Given the description of an element on the screen output the (x, y) to click on. 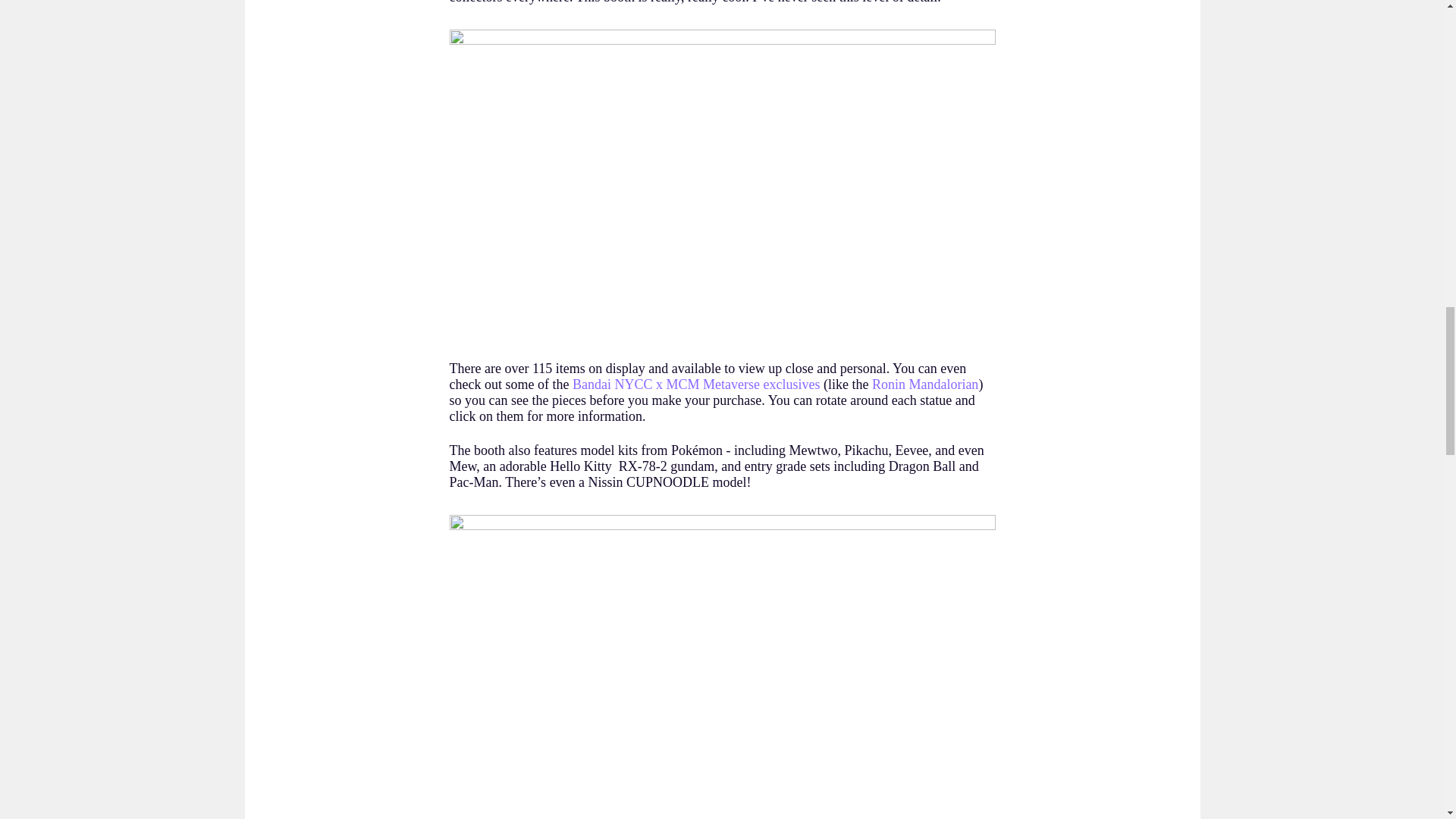
Ronin Mandalorian (925, 384)
Bandai NYCC x MCM Metaverse exclusives (695, 384)
